Given the description of an element on the screen output the (x, y) to click on. 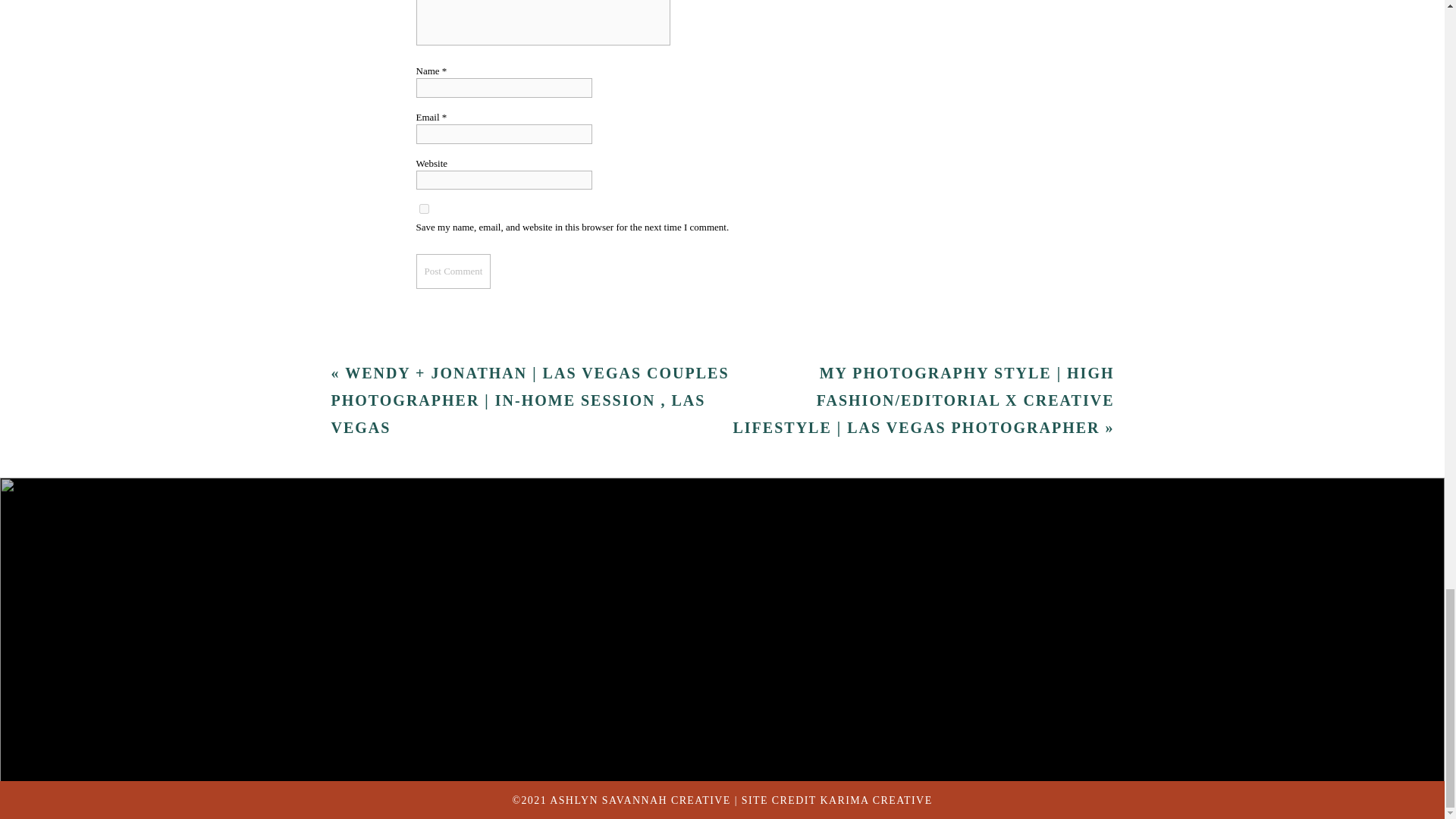
yes (423, 392)
Post Comment (452, 454)
Post Comment (452, 454)
